Given the description of an element on the screen output the (x, y) to click on. 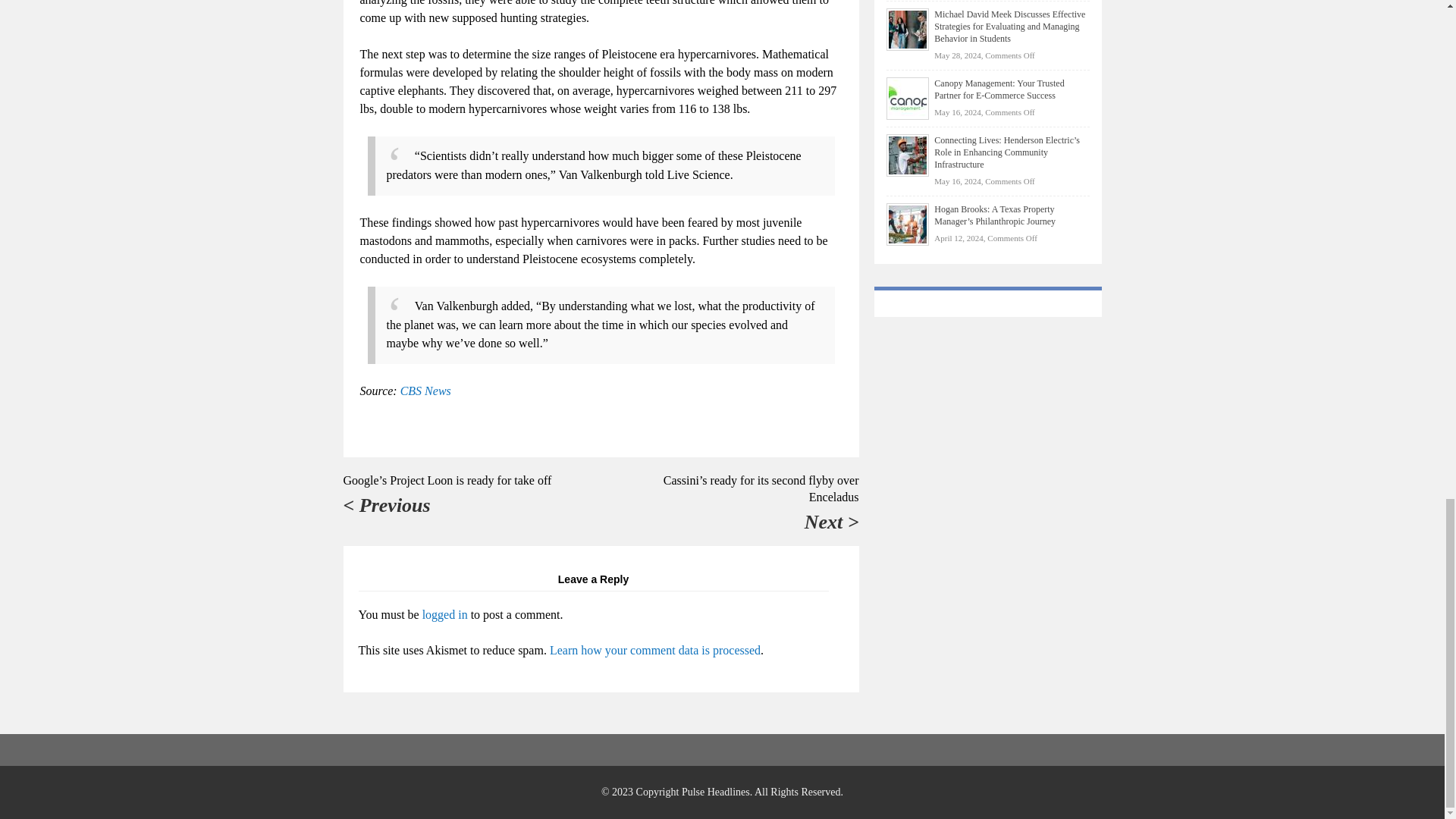
logged in (444, 614)
CBS News (425, 390)
Learn how your comment data is processed (655, 649)
